Given the description of an element on the screen output the (x, y) to click on. 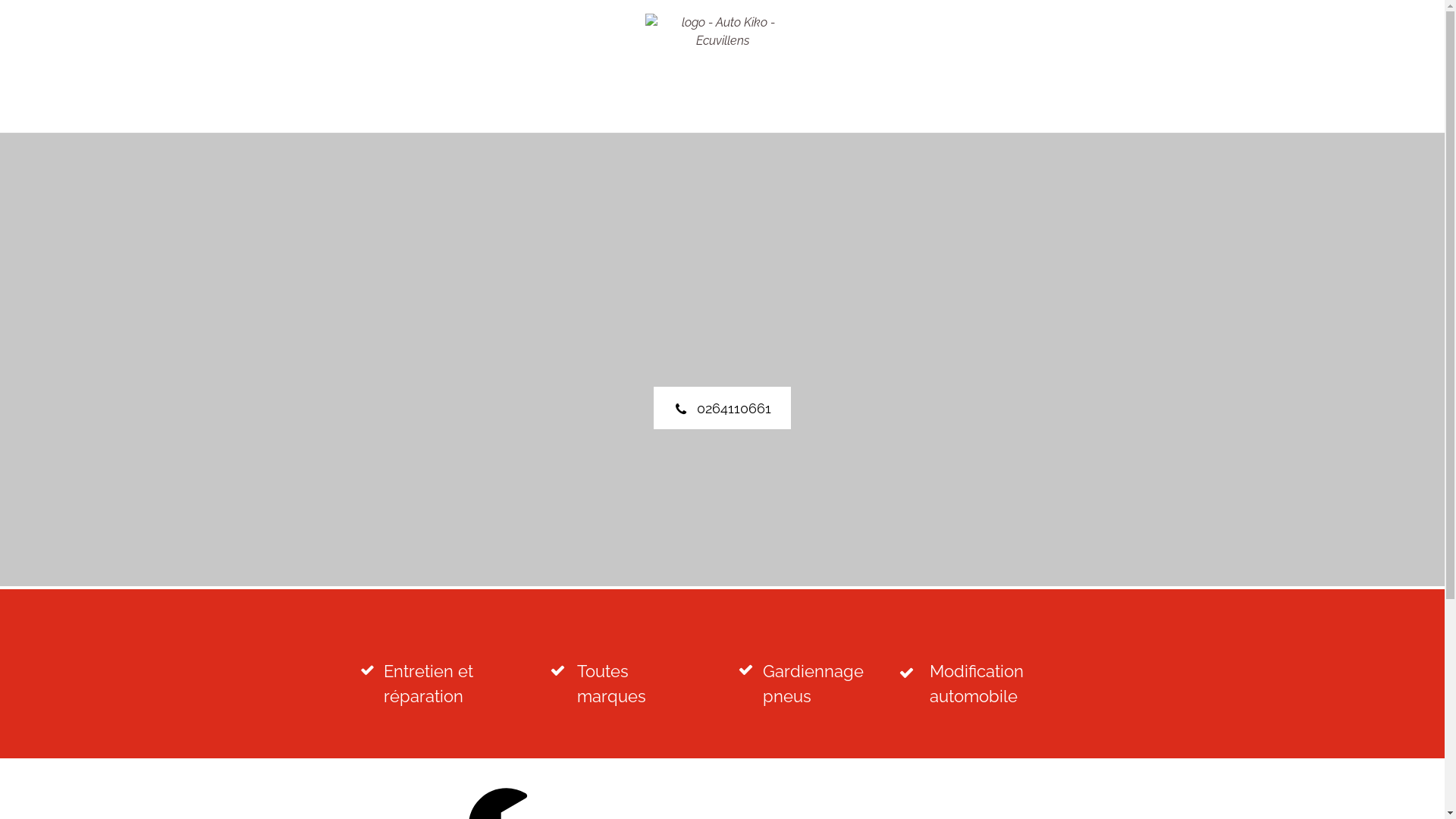
0264110661 Element type: text (721, 407)
